Given the description of an element on the screen output the (x, y) to click on. 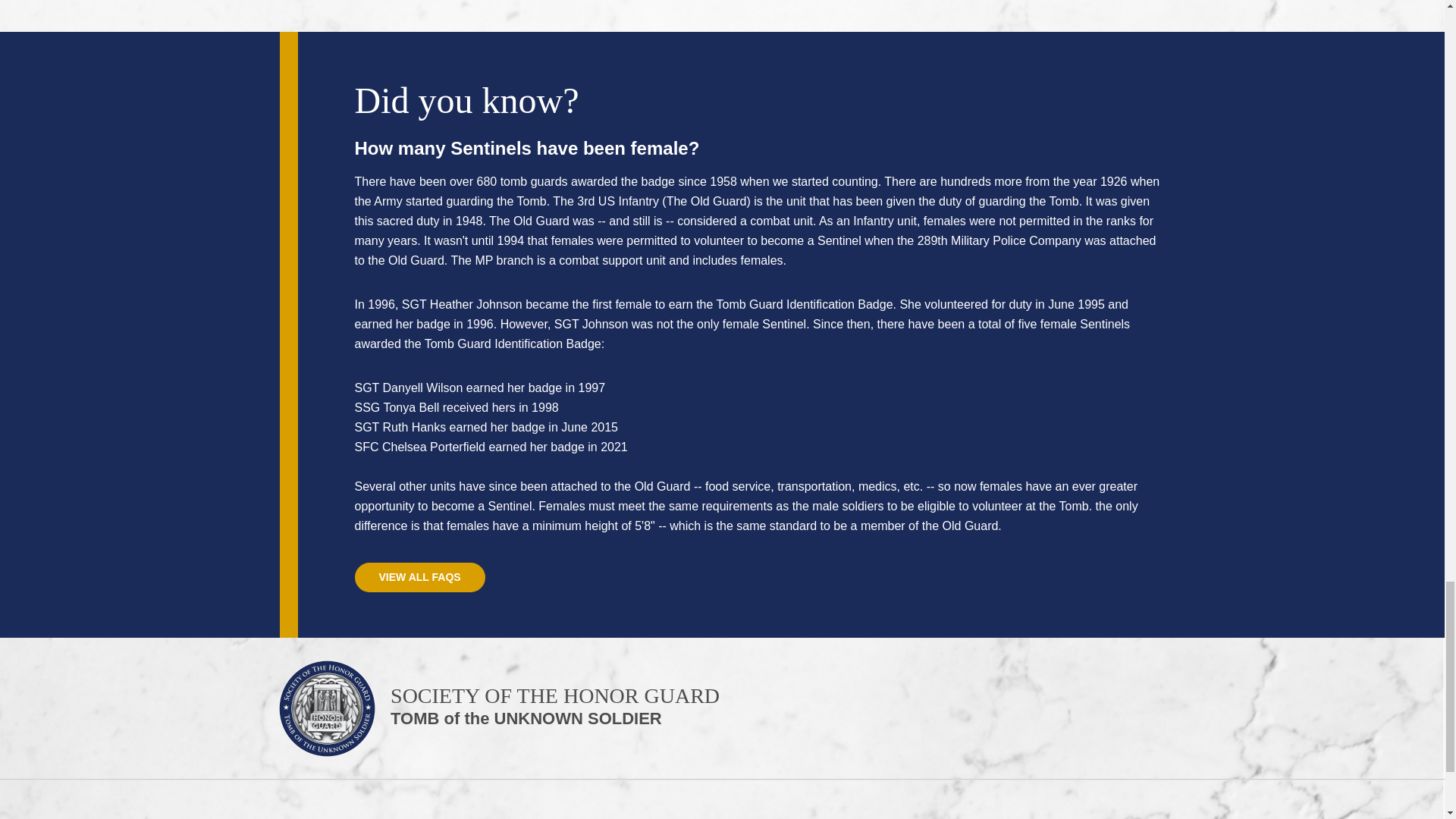
VIEW ALL FAQS (419, 577)
News (499, 713)
